Given the description of an element on the screen output the (x, y) to click on. 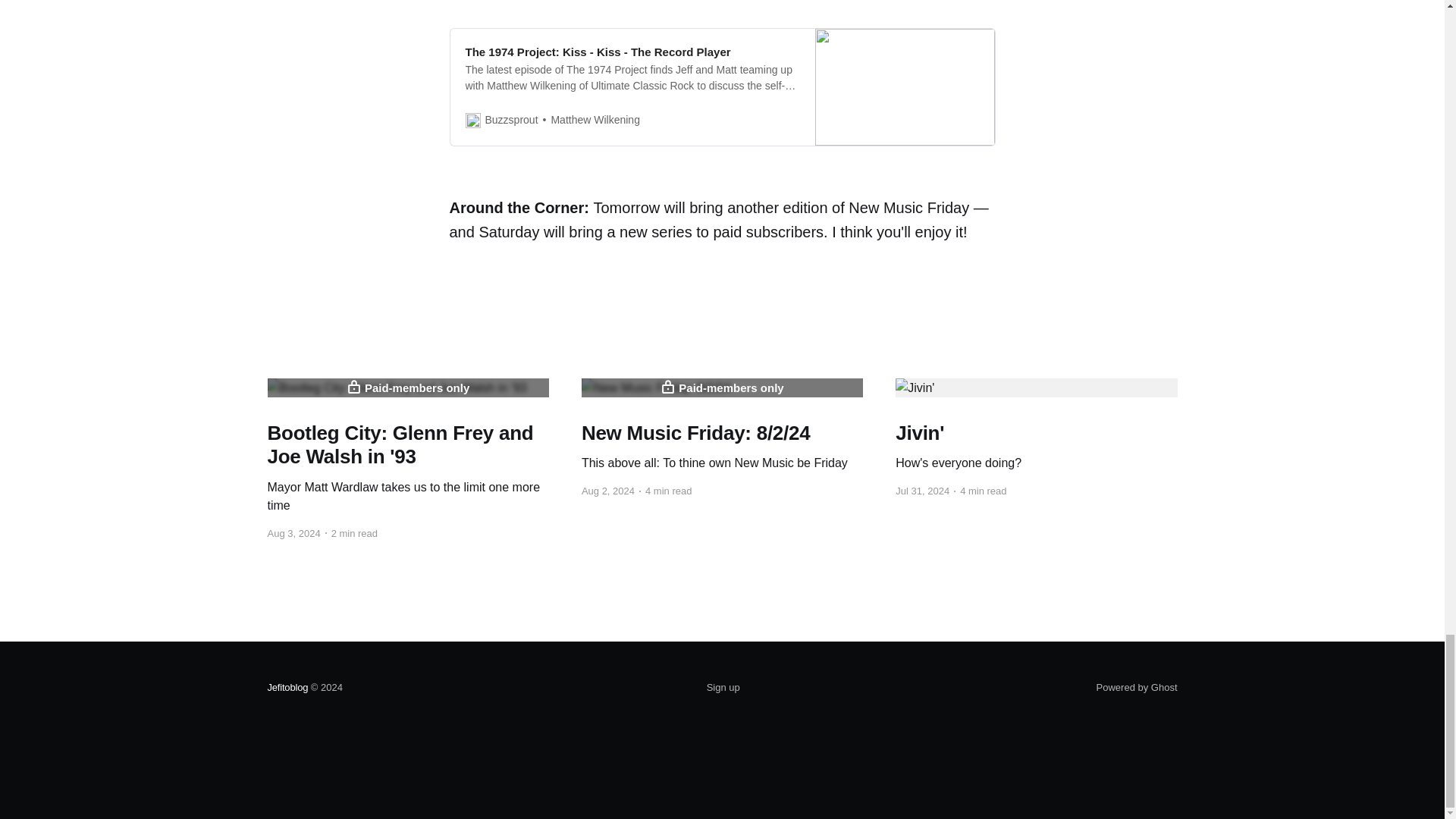
Powered by Ghost (1136, 686)
Paid-members only (407, 388)
Sign up (722, 687)
Paid-members only (1035, 446)
Jefitoblog (721, 388)
